Given the description of an element on the screen output the (x, y) to click on. 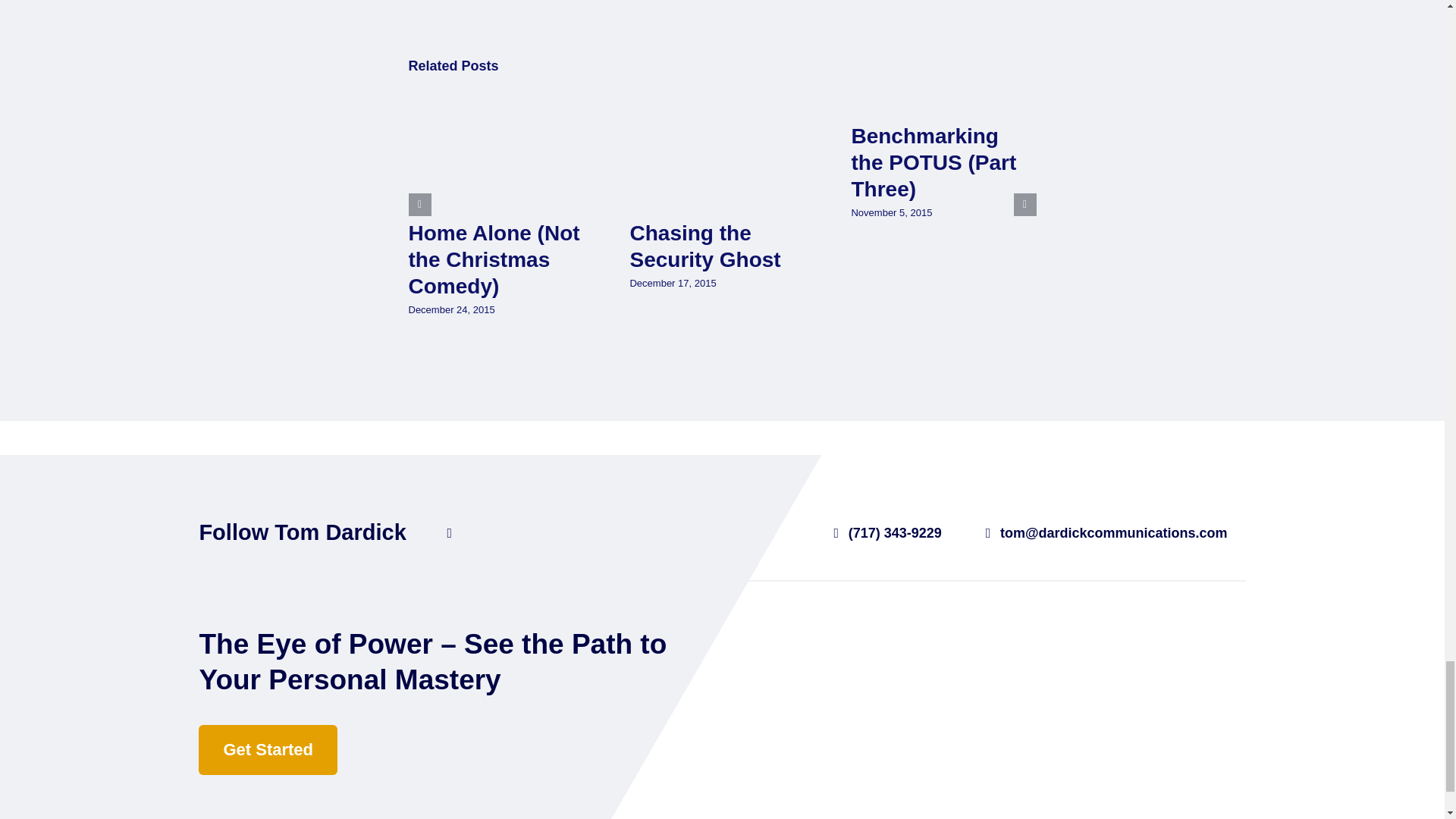
Chasing the Security Ghost (704, 246)
Chasing the Security Ghost (704, 246)
Facebook (449, 533)
Get Started (267, 749)
